Given the description of an element on the screen output the (x, y) to click on. 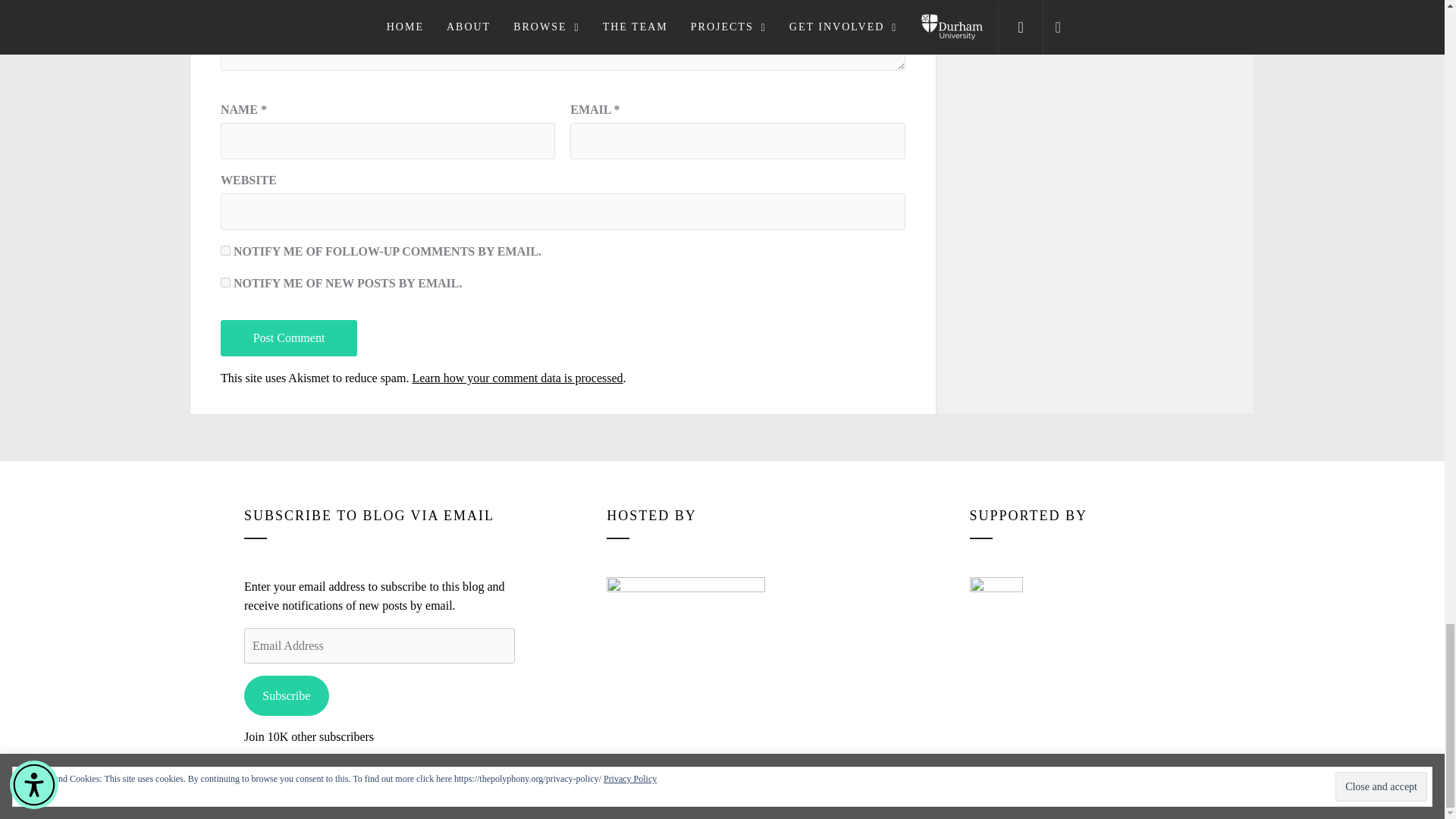
subscribe (225, 250)
SUPPORTED BY (996, 603)
HOSTED BY (686, 624)
subscribe (225, 282)
Post Comment (288, 338)
